Given the description of an element on the screen output the (x, y) to click on. 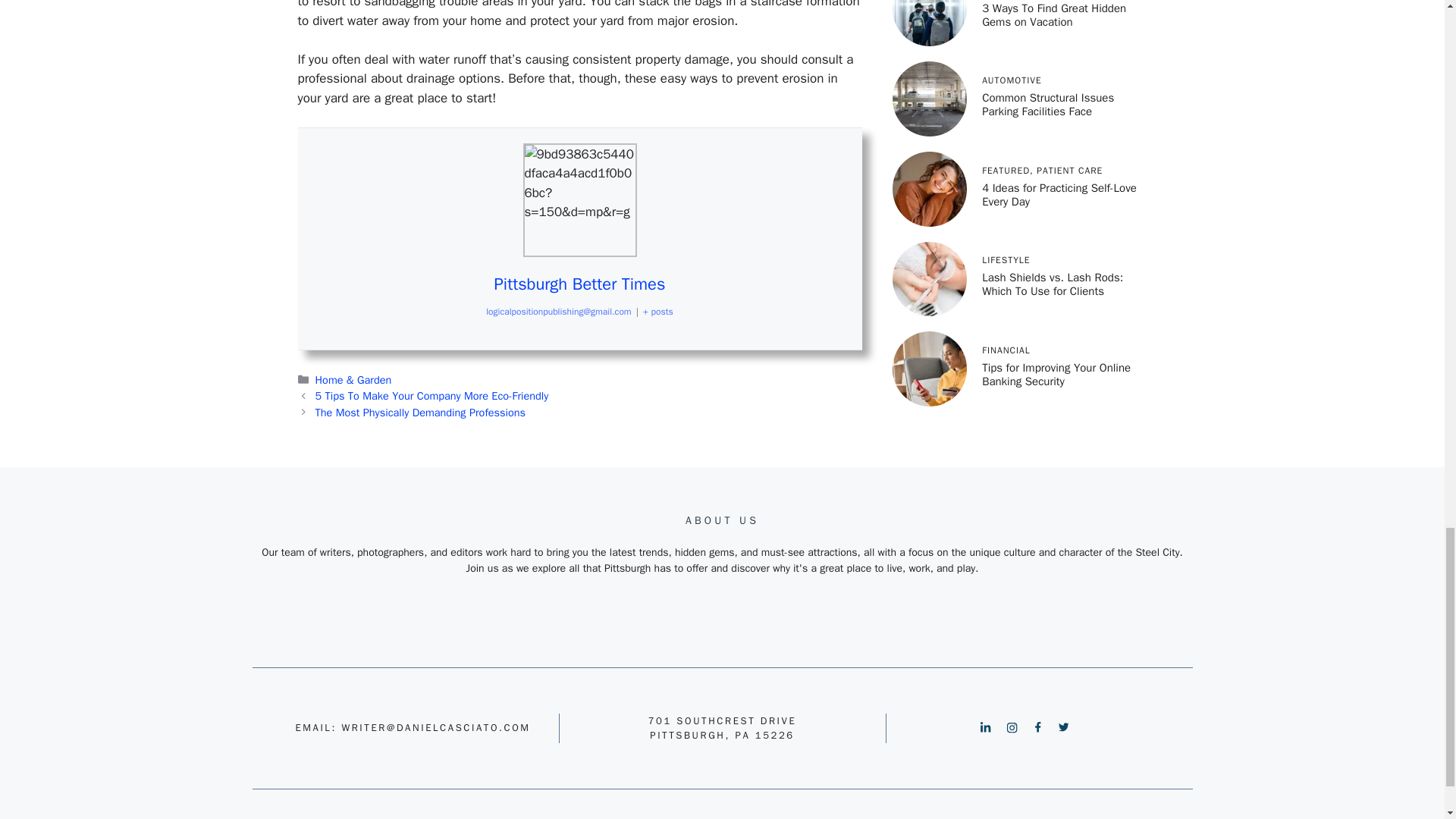
Pittsburgh Better Times (580, 283)
4 Easy Ways to Prevent Erosion in Your Yard 1 (579, 200)
The Most Physically Demanding Professions (420, 412)
5 Tips To Make Your Company More Eco-Friendly (431, 395)
